Given the description of an element on the screen output the (x, y) to click on. 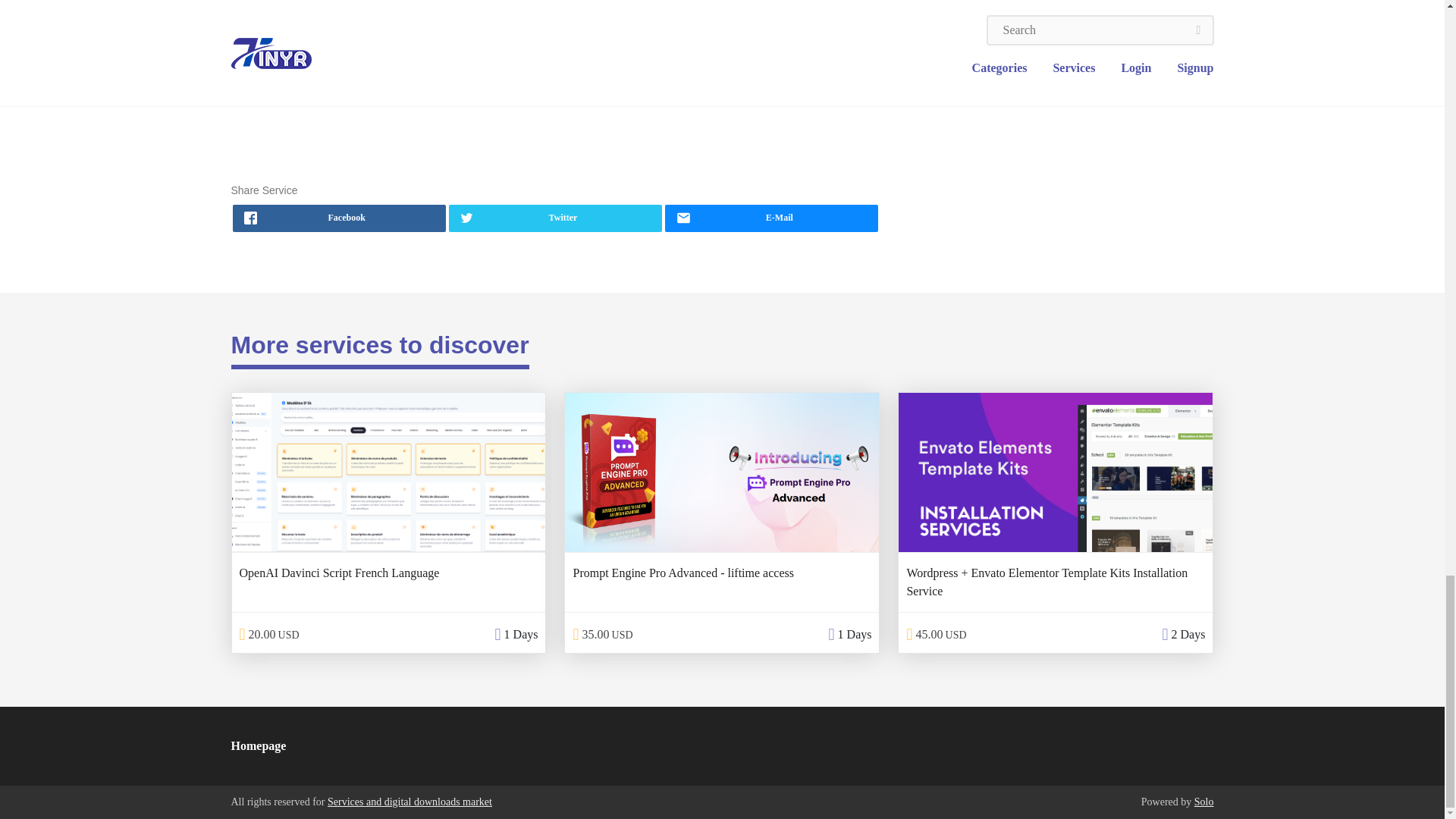
Twitter (555, 217)
Homepage (257, 745)
OpenAI Davinci Script French Language (339, 572)
Prompt Engine Pro Advanced - liftime access (682, 572)
E-Mail (771, 217)
Services and digital downloads market (409, 801)
Facebook (338, 217)
Solo (1203, 801)
